Given the description of an element on the screen output the (x, y) to click on. 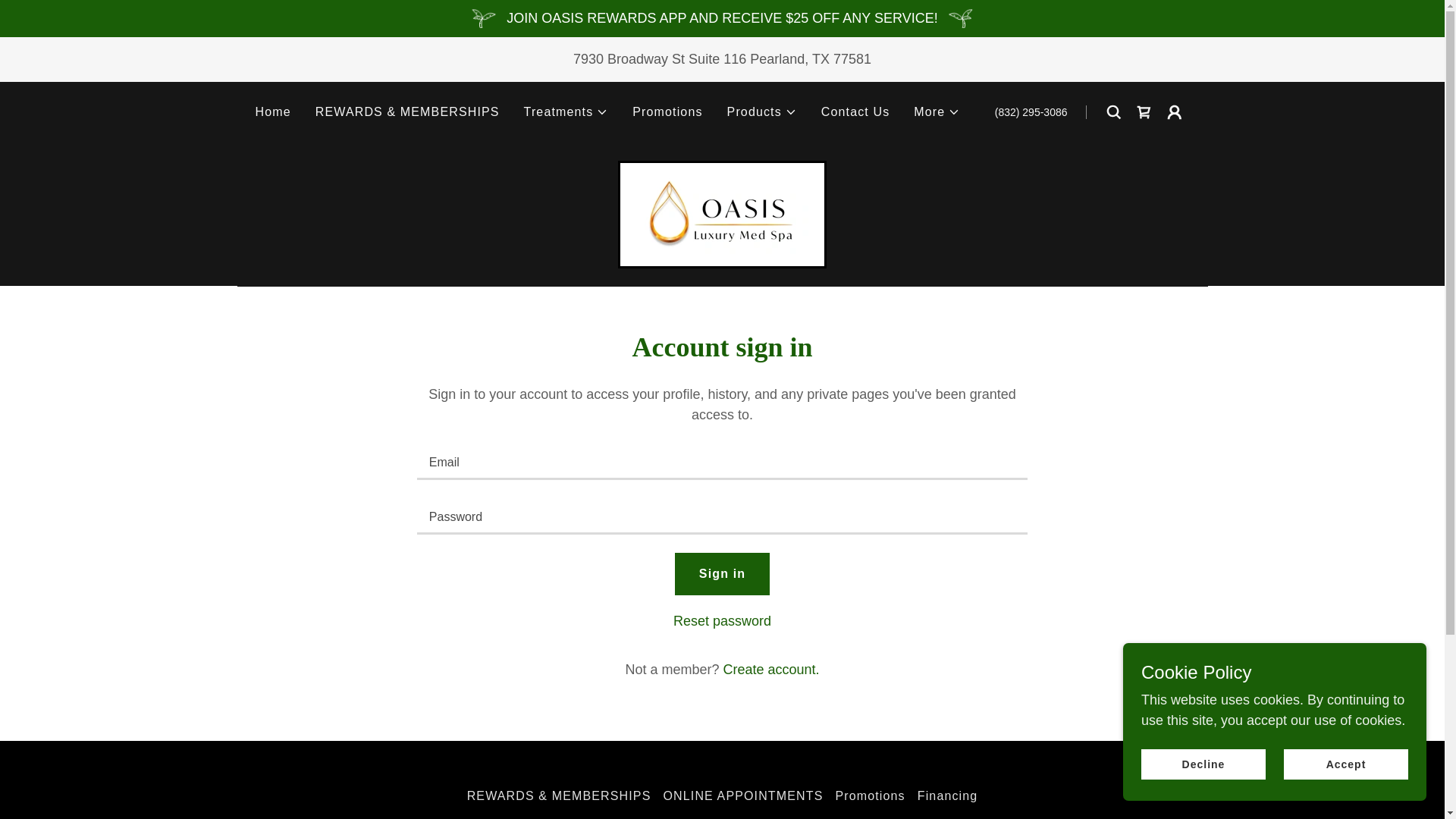
Contact Us (855, 112)
Products (761, 112)
Home (272, 112)
Treatments (566, 112)
More (936, 112)
Promotions (666, 112)
